Given the description of an element on the screen output the (x, y) to click on. 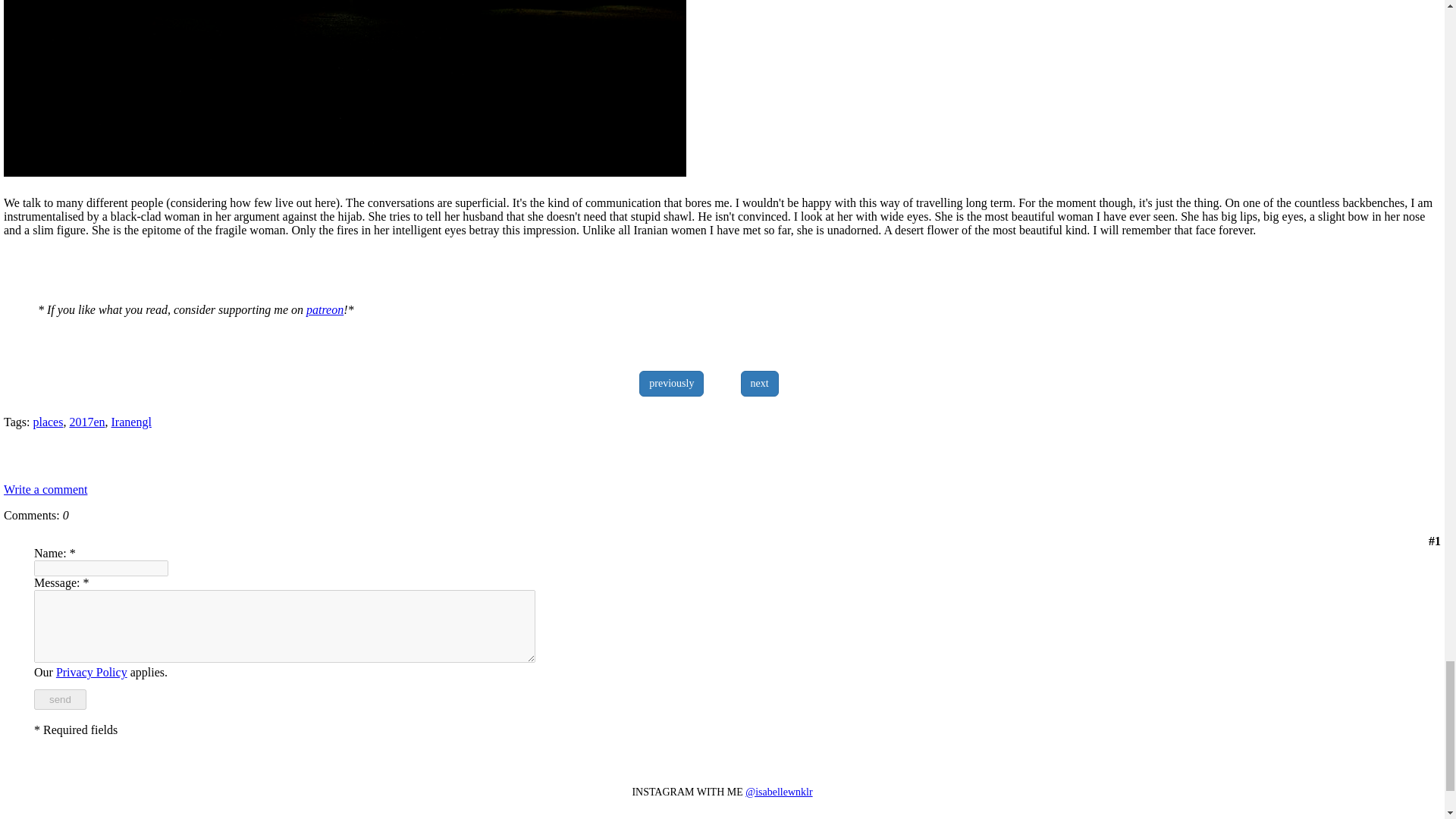
Twitter (1435, 452)
next (759, 383)
previously (671, 383)
send (59, 699)
patreon (324, 309)
Facebook (1423, 452)
places (47, 421)
